Given the description of an element on the screen output the (x, y) to click on. 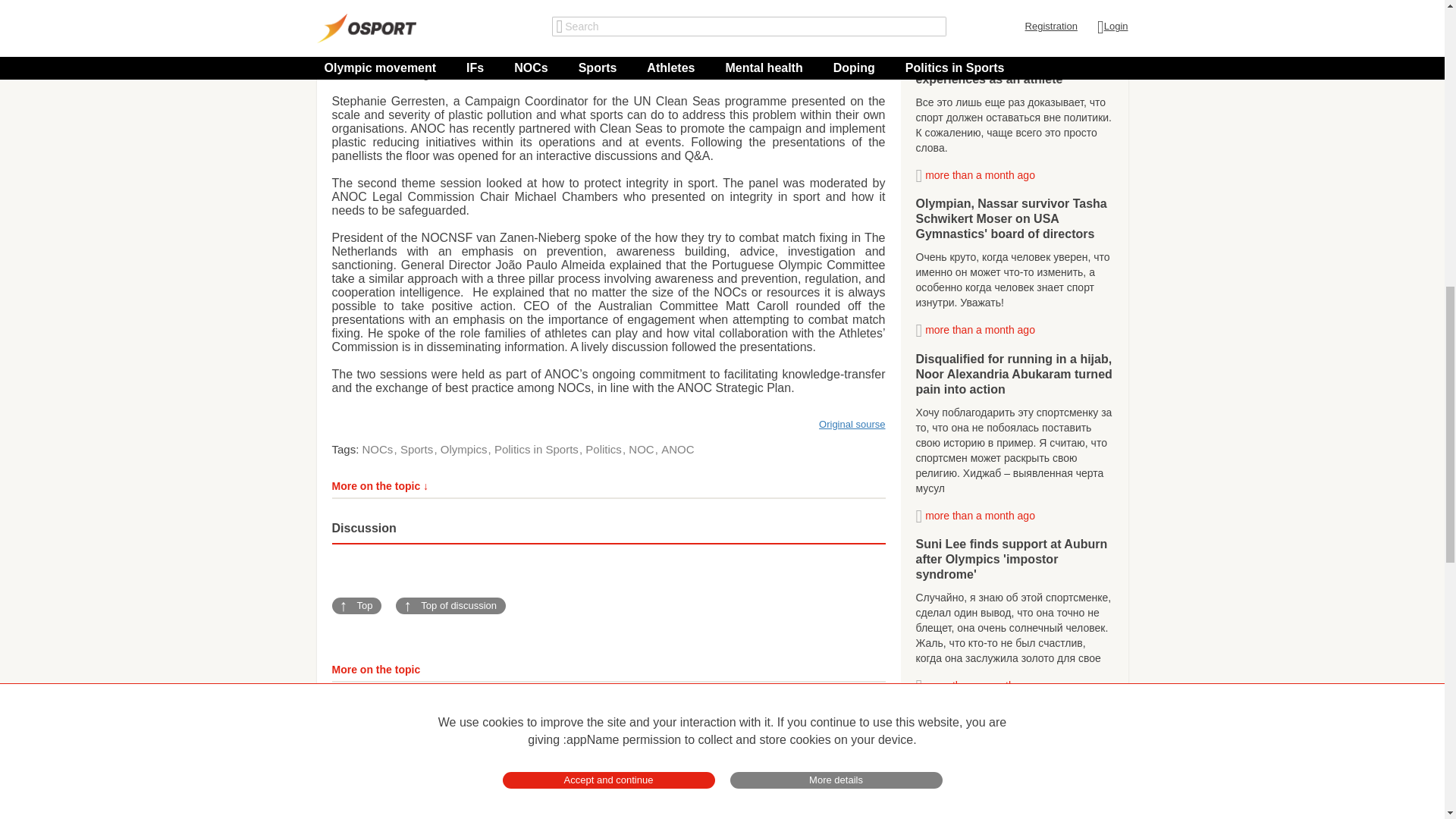
ANOC (677, 449)
NOCs (379, 449)
Original sourse (851, 423)
NOC (643, 449)
Olympics (465, 449)
Politics in Sports (537, 449)
Sports (418, 449)
Politics (604, 449)
